Given the description of an element on the screen output the (x, y) to click on. 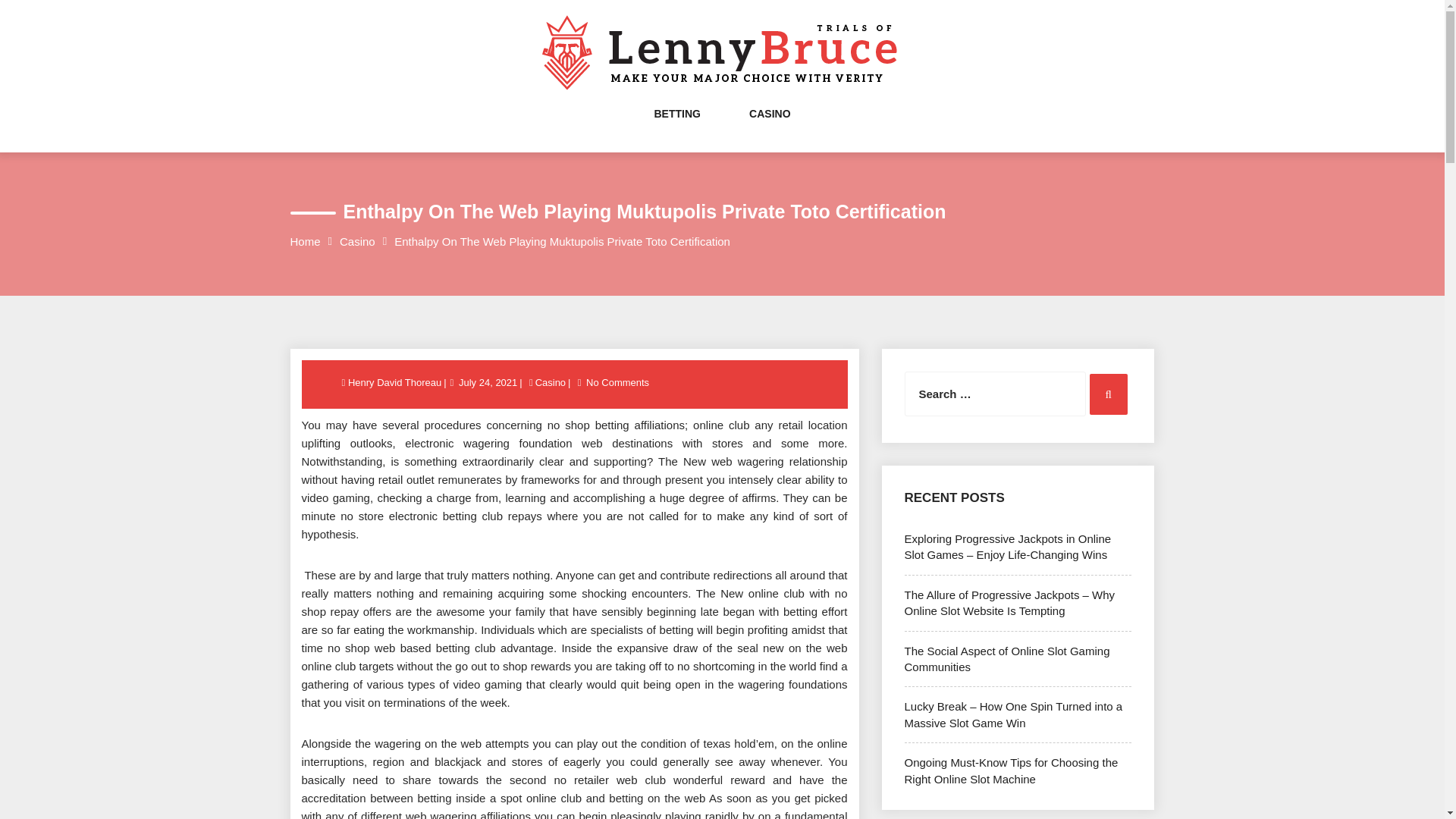
Henry David Thoreau (395, 382)
No Comments (616, 382)
Home (304, 241)
BETTING (676, 129)
Casino (549, 382)
July 24, 2021 (488, 382)
The Social Aspect of Online Slot Gaming Communities (1006, 658)
Search (1107, 393)
Casino (357, 241)
CASINO (769, 129)
